Given the description of an element on the screen output the (x, y) to click on. 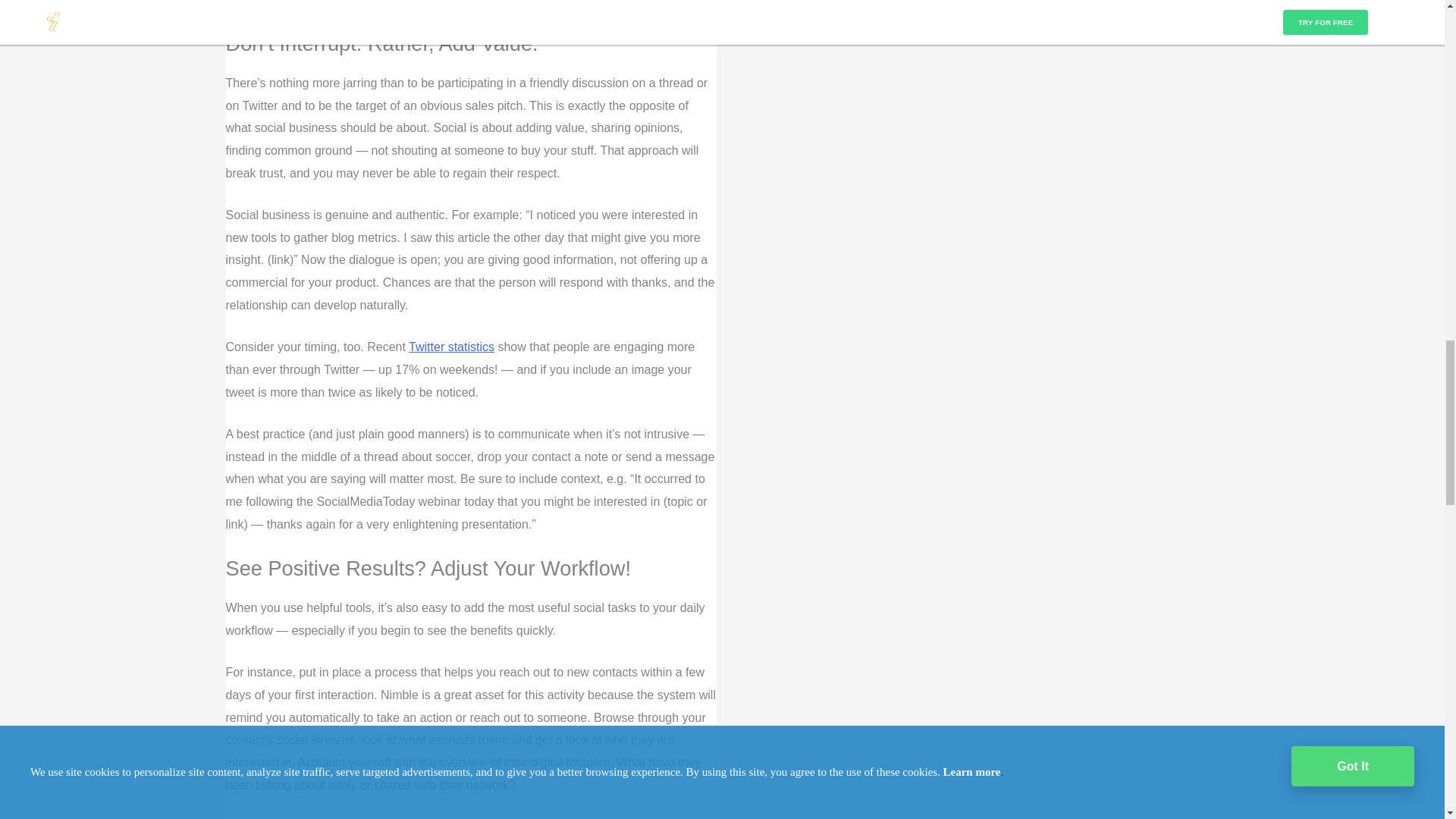
Twitter statistics (452, 346)
